Given the description of an element on the screen output the (x, y) to click on. 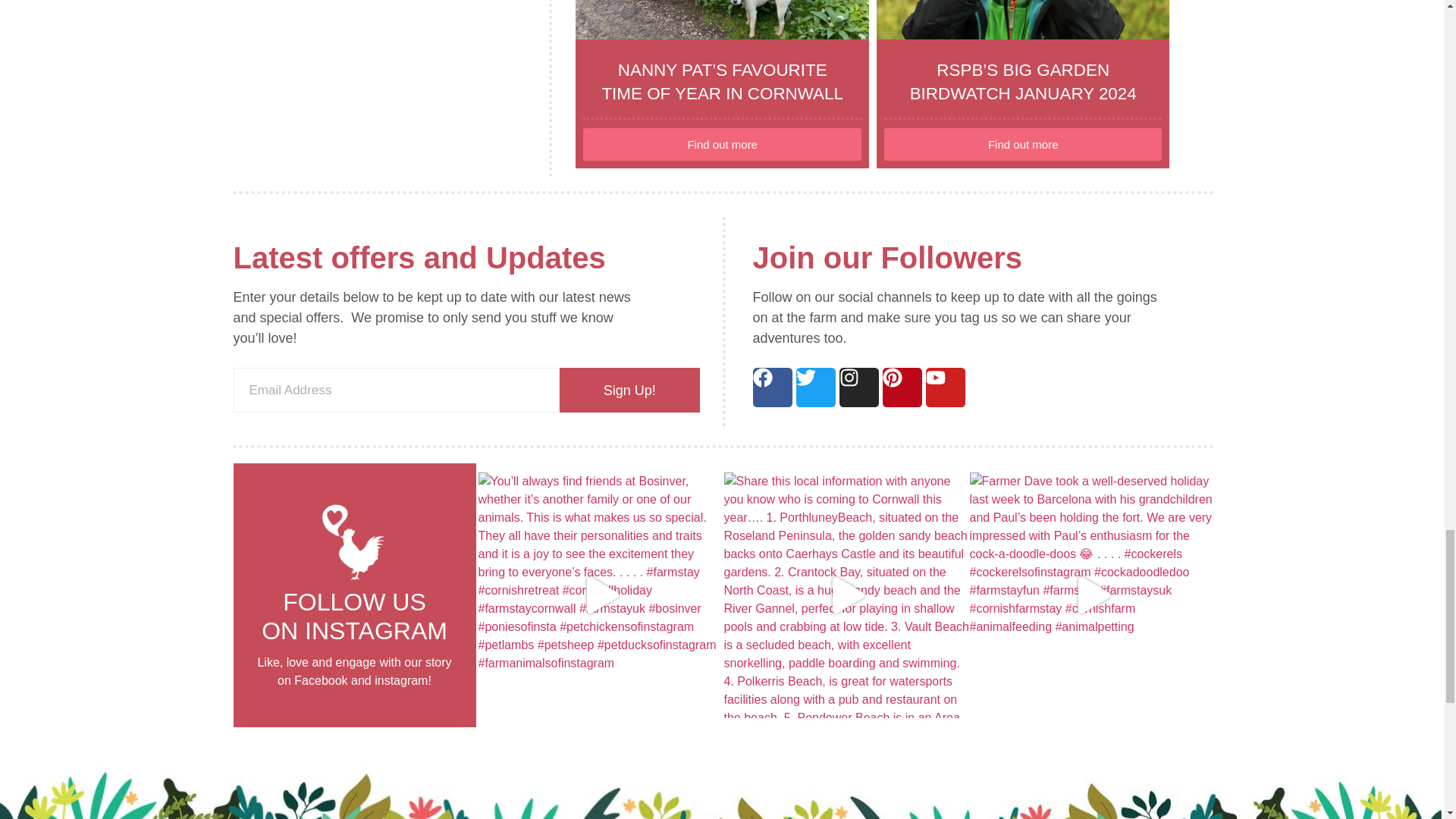
birdwatch (1023, 19)
pat with azealia flowers (722, 19)
